Given the description of an element on the screen output the (x, y) to click on. 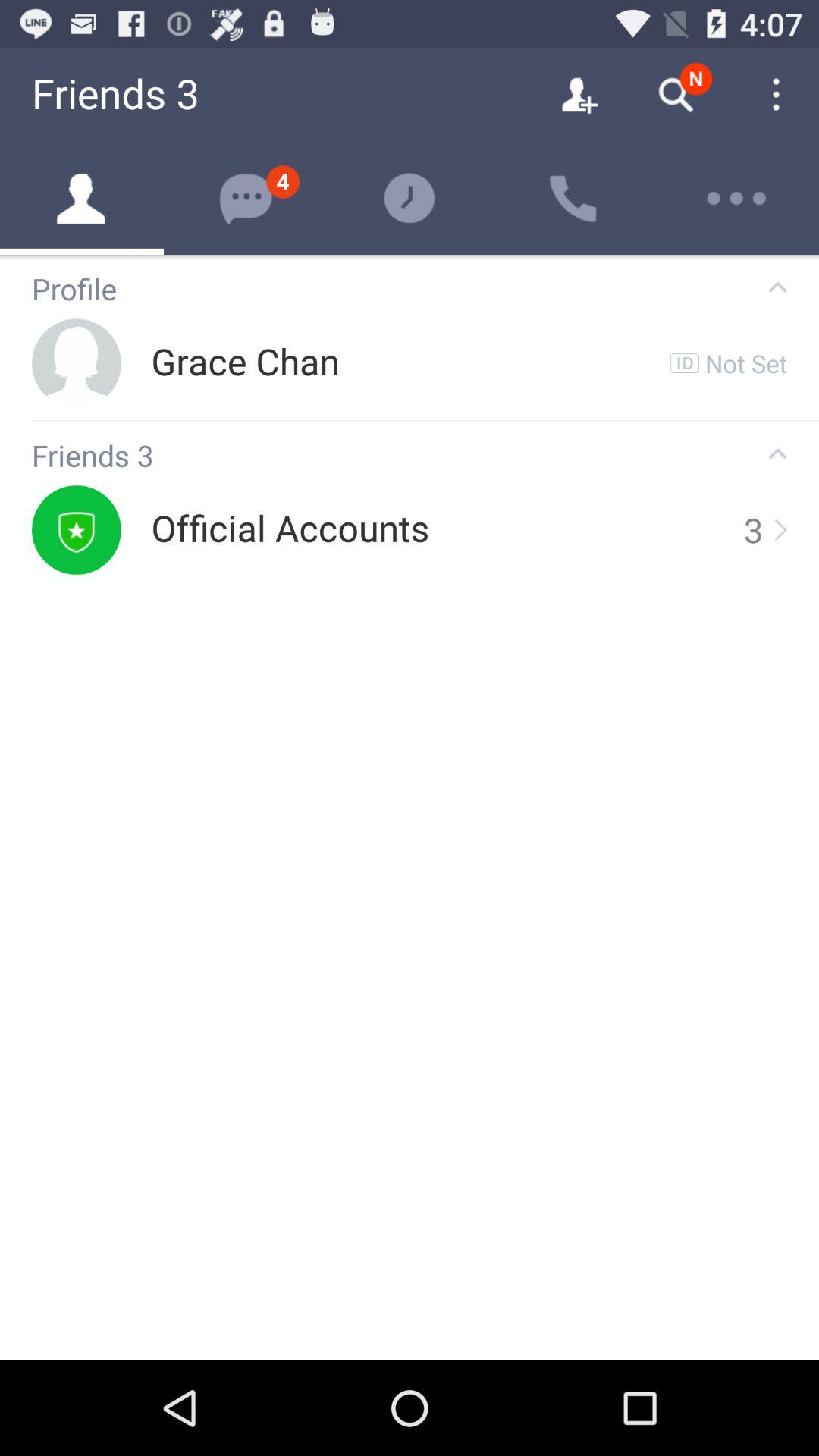
flip until profile (384, 289)
